Given the description of an element on the screen output the (x, y) to click on. 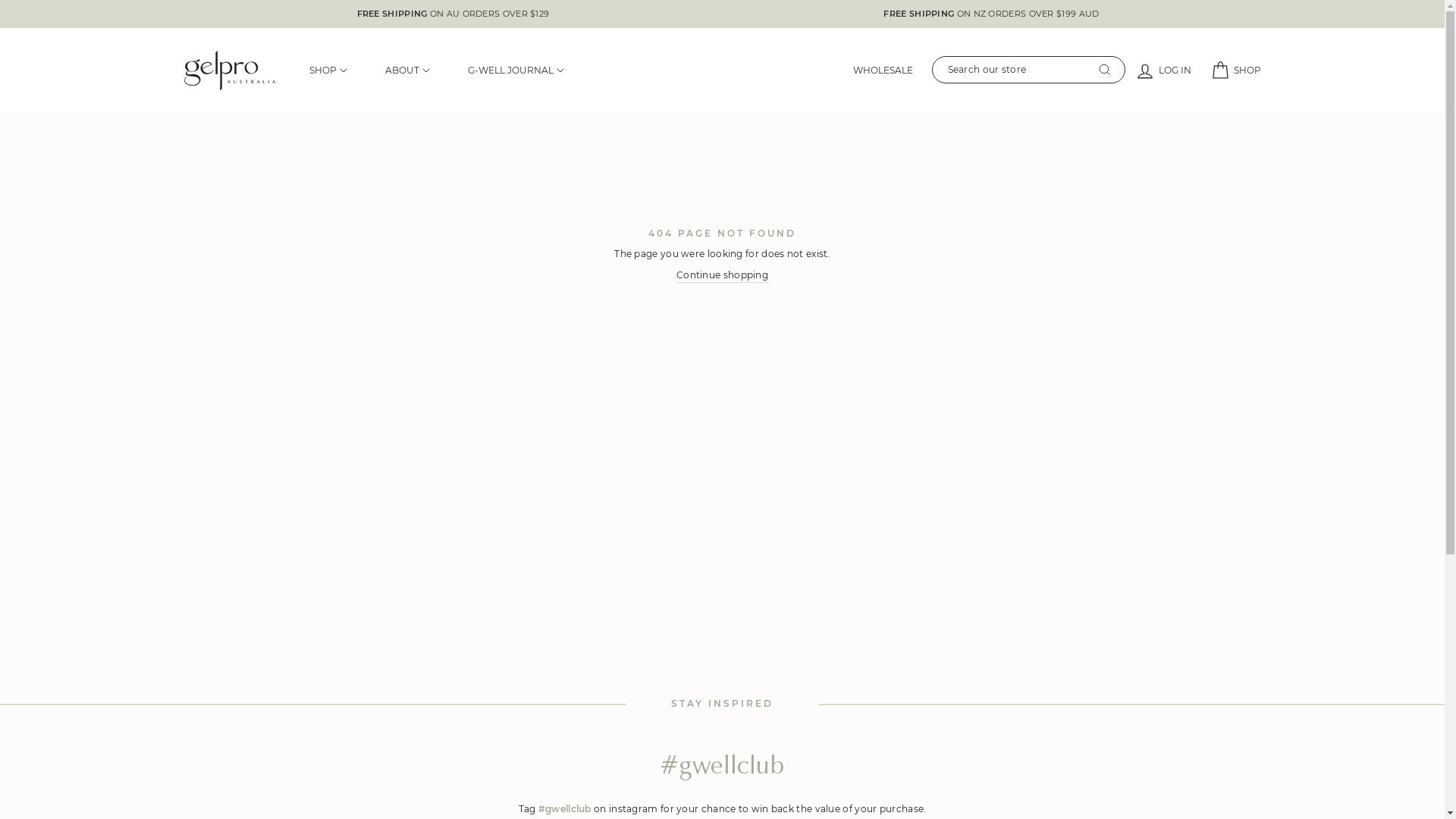
LOG IN Element type: text (1162, 69)
G-WELL JOURNAL Element type: text (515, 70)
WHOLESALE Element type: text (882, 70)
Skip to content Element type: text (0, 0)
SHOP Element type: text (327, 70)
Continue shopping Element type: text (722, 275)
Search Element type: text (1104, 69)
ABOUT Element type: text (406, 70)
SHOP Element type: text (1234, 69)
